Given the description of an element on the screen output the (x, y) to click on. 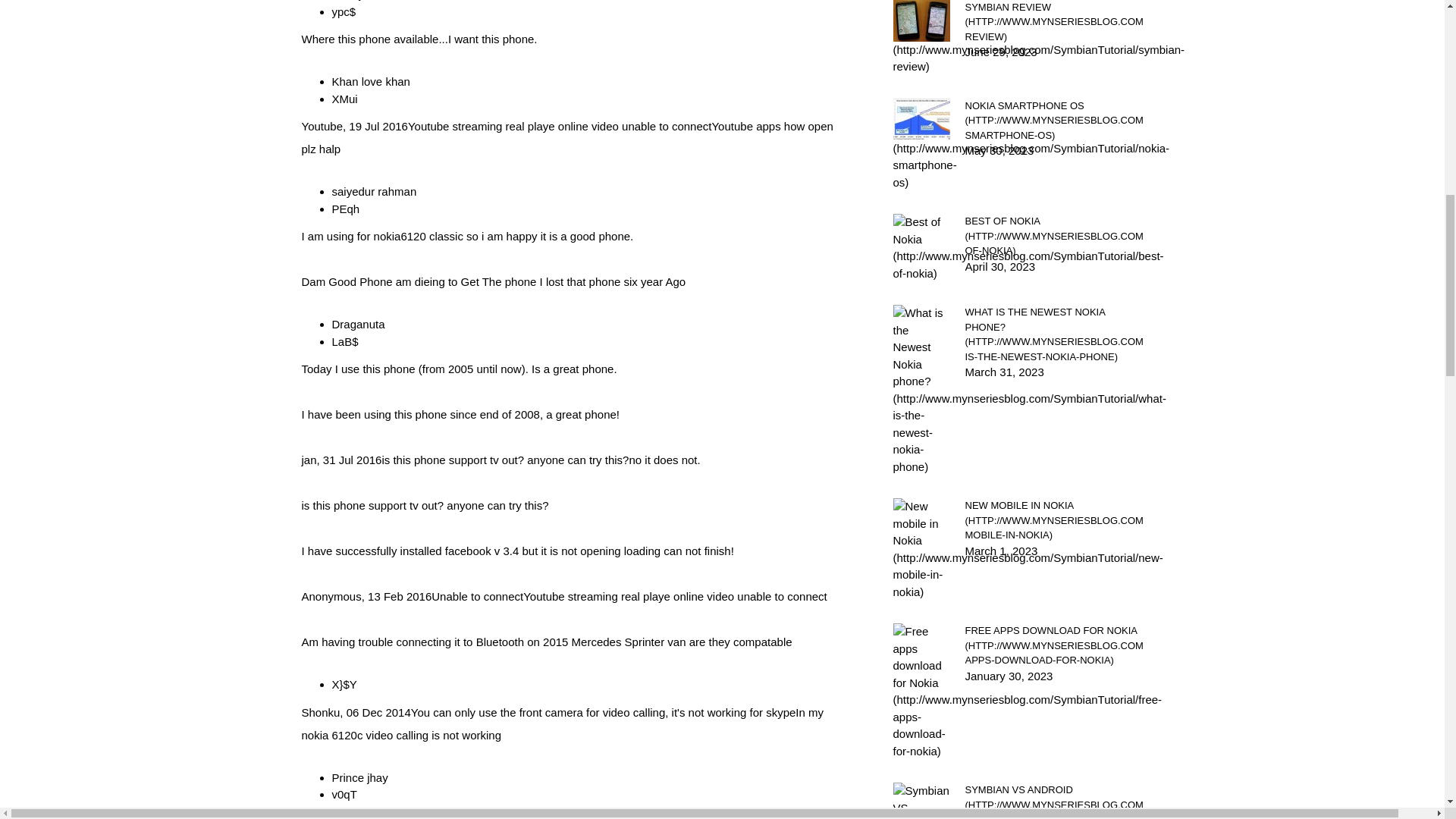
BEST OF NOKIA (1052, 235)
NOKIA SMARTPHONE OS (1052, 120)
WHAT IS THE NEWEST NOKIA PHONE? (1052, 333)
SYMBIAN REVIEW (1052, 22)
